Given the description of an element on the screen output the (x, y) to click on. 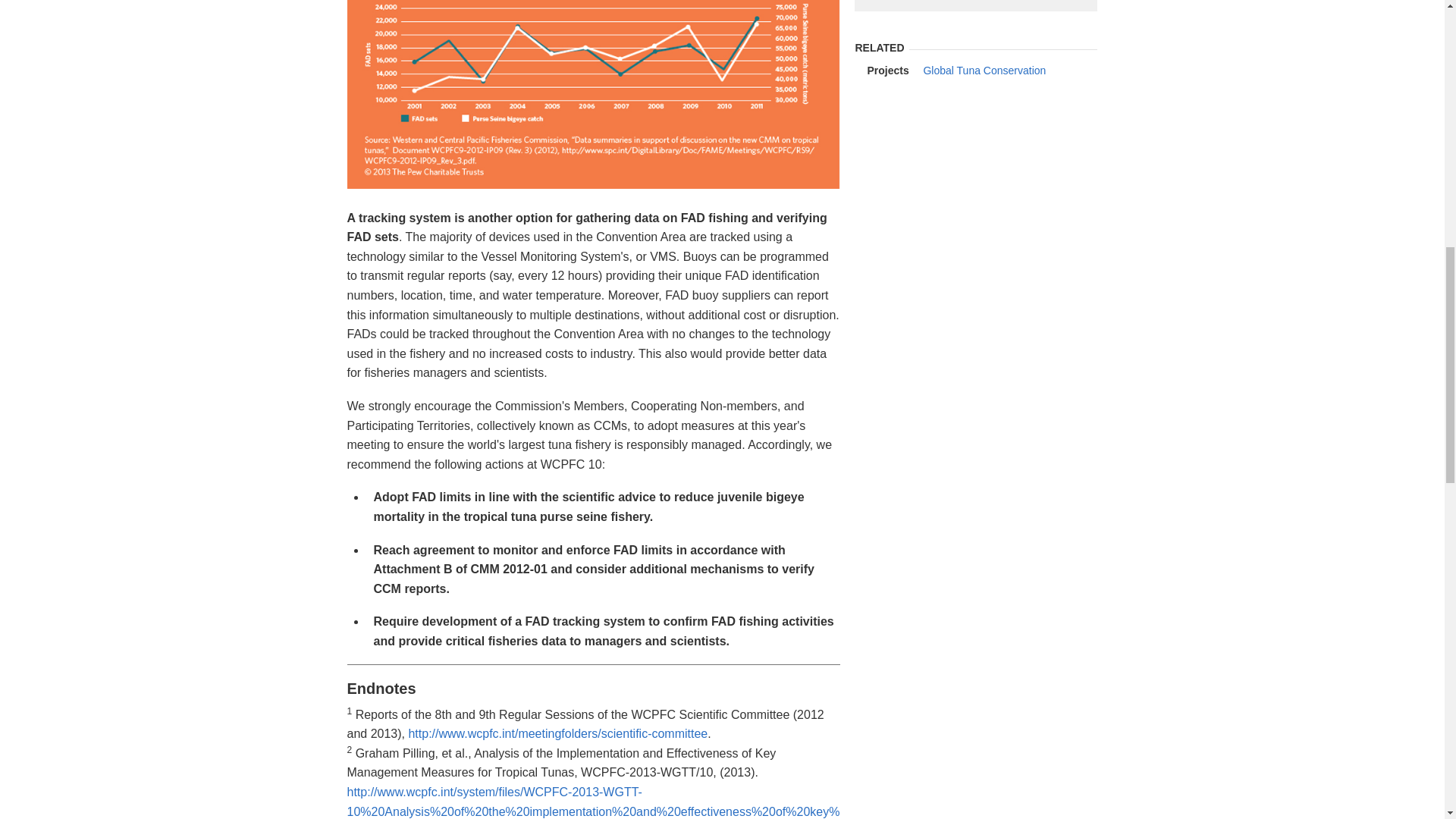
tuna-fig1 (593, 94)
